Given the description of an element on the screen output the (x, y) to click on. 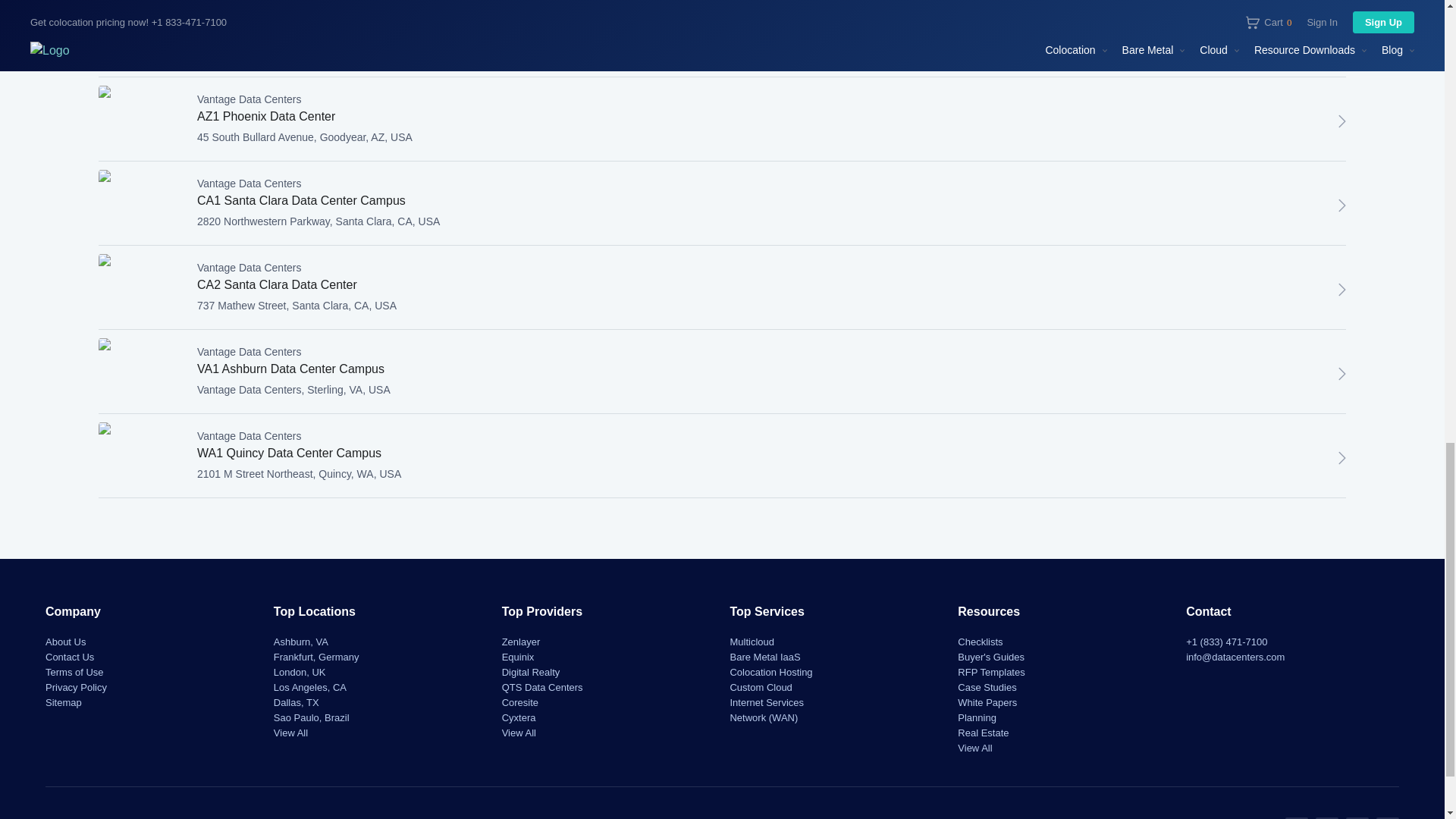
Chat (1342, 121)
Chat (1342, 373)
Chat (1342, 457)
Chat (1342, 289)
Chat (1342, 205)
